Given the description of an element on the screen output the (x, y) to click on. 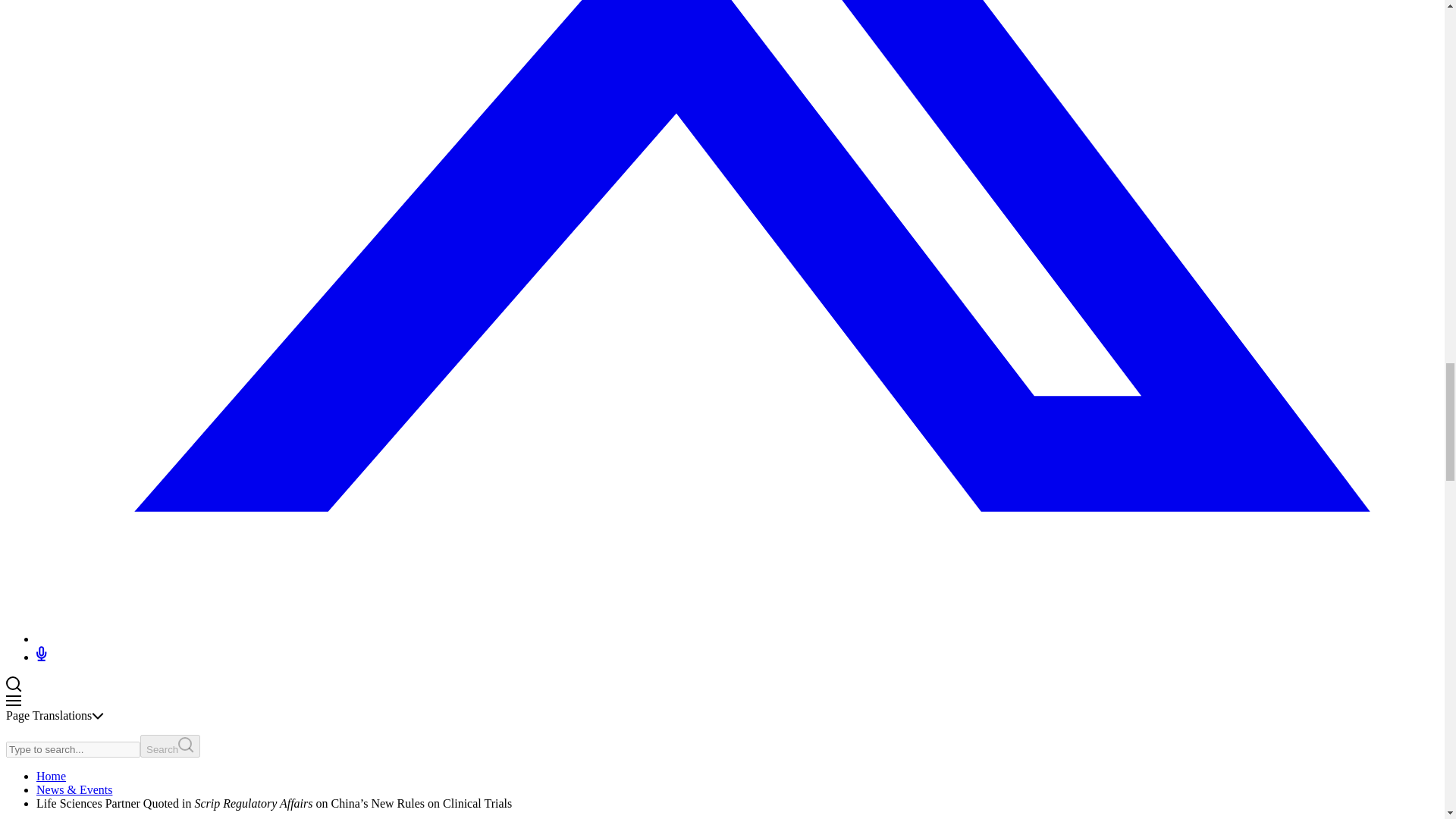
Page Translations (54, 715)
Search (169, 745)
Home (50, 775)
